Given the description of an element on the screen output the (x, y) to click on. 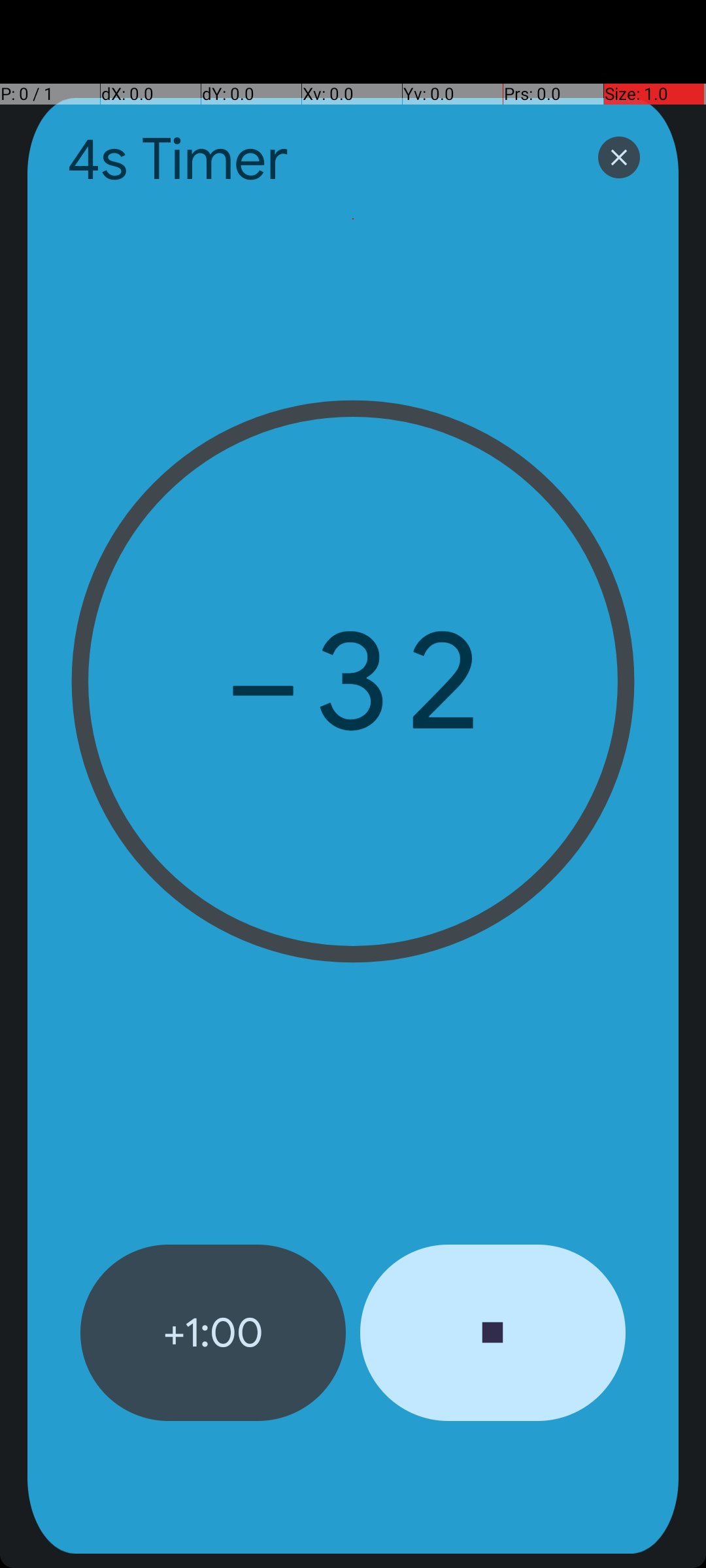
4s Timer Element type: android.widget.TextView (315, 159)
−32 Element type: android.widget.TextView (352, 681)
+1:00 Element type: android.widget.Button (212, 1332)
